Given the description of an element on the screen output the (x, y) to click on. 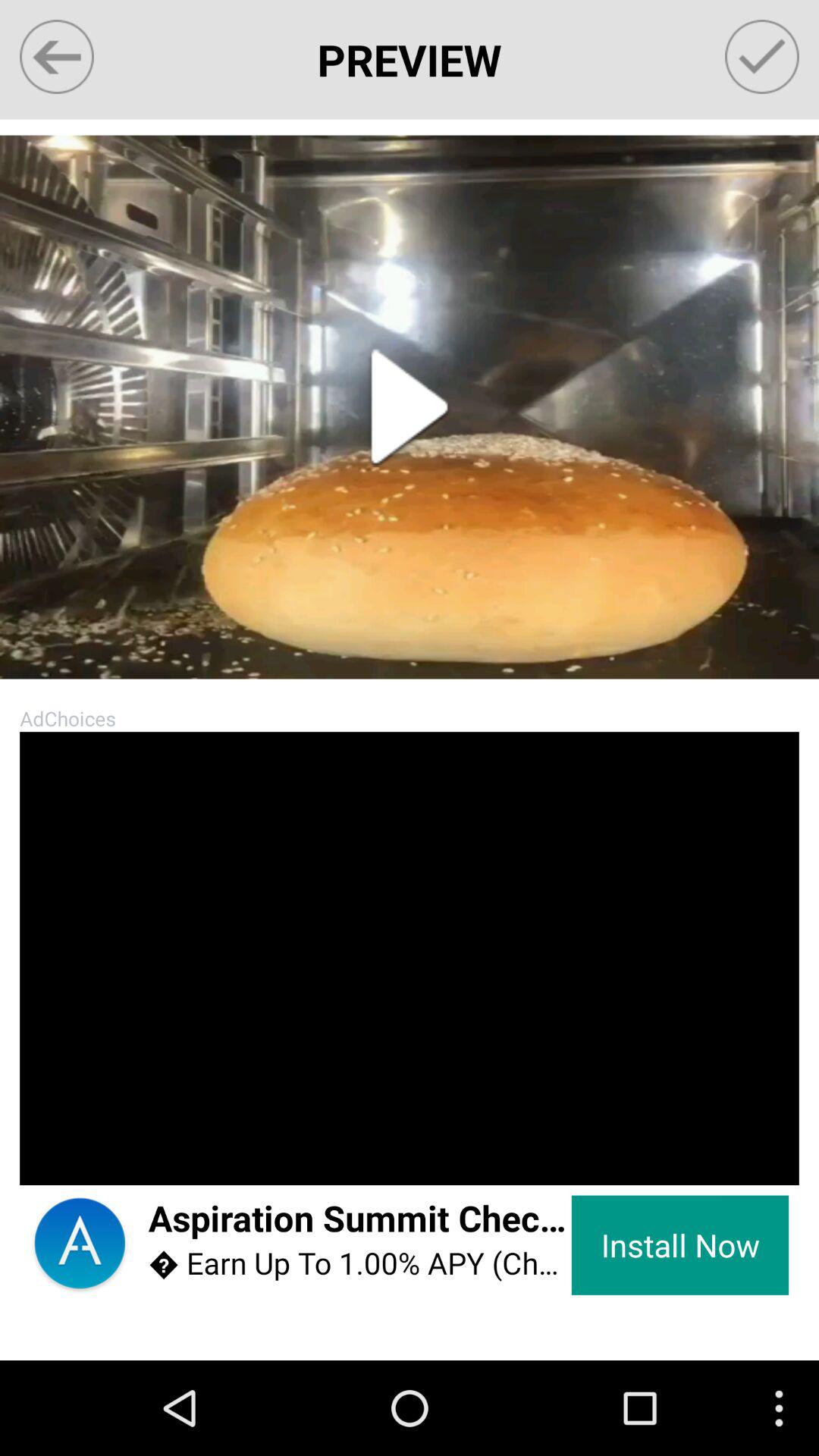
play button (409, 406)
